Given the description of an element on the screen output the (x, y) to click on. 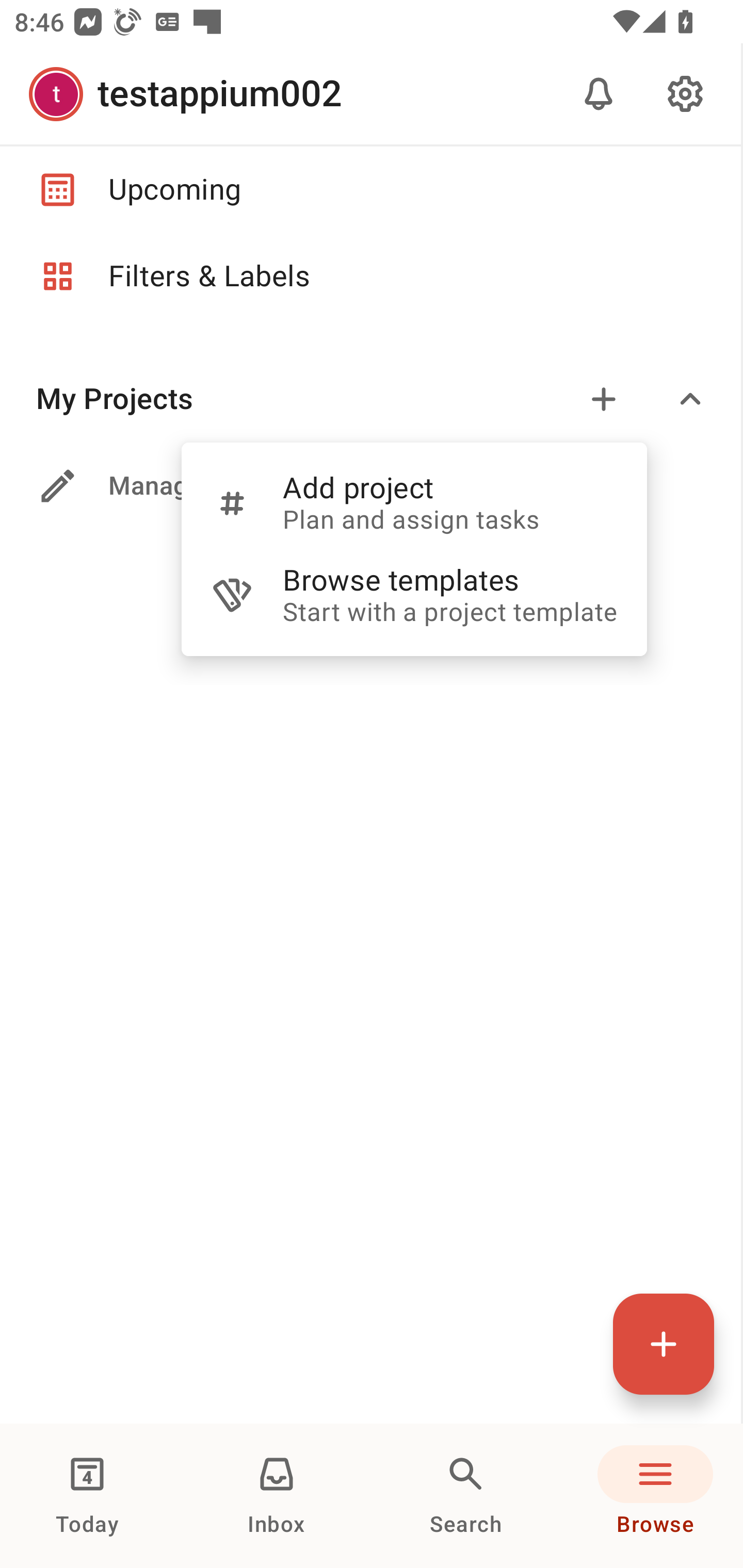
Add project Plan and assign tasks (414, 502)
Browse templates Start with a project template (414, 594)
